Given the description of an element on the screen output the (x, y) to click on. 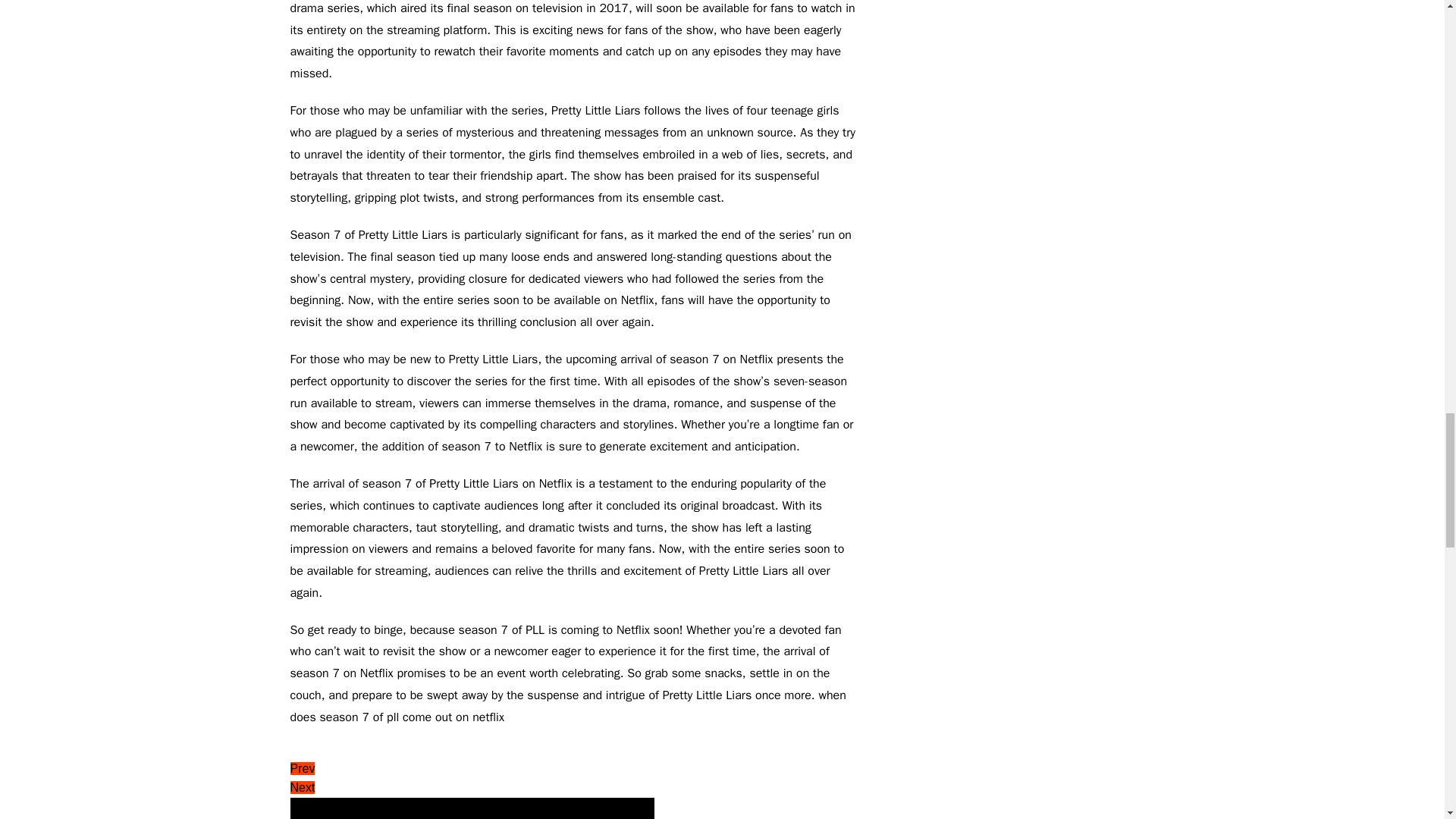
Prev (301, 768)
